Given the description of an element on the screen output the (x, y) to click on. 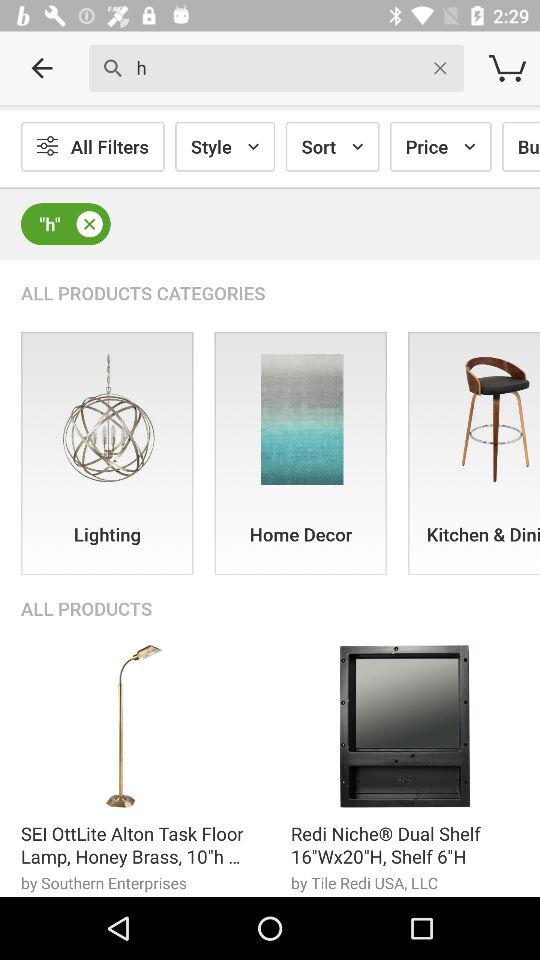
close (89, 224)
